Given the description of an element on the screen output the (x, y) to click on. 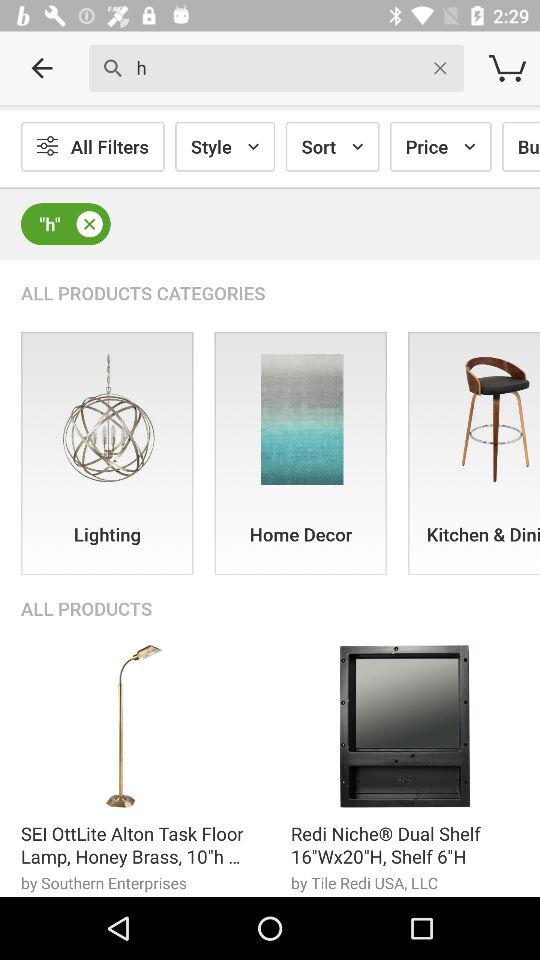
close (89, 224)
